Given the description of an element on the screen output the (x, y) to click on. 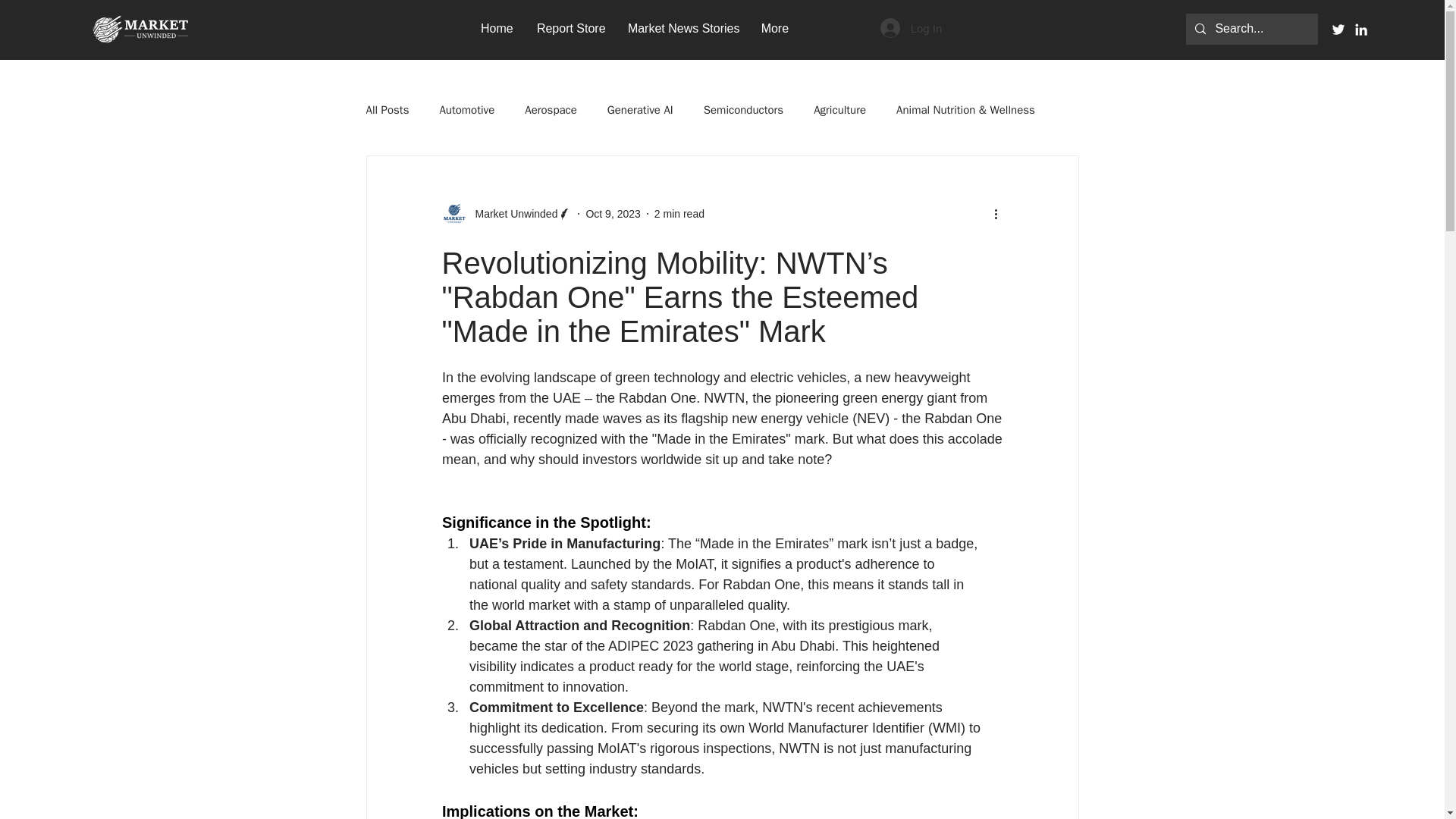
Report Store (570, 27)
Oct 9, 2023 (612, 214)
Market News Stories (682, 27)
2 min read (678, 214)
Semiconductors (743, 110)
Automotive (467, 110)
All Posts (387, 110)
Generative AI (639, 110)
Market Unwinded Logo.png (140, 29)
Home (496, 27)
